Given the description of an element on the screen output the (x, y) to click on. 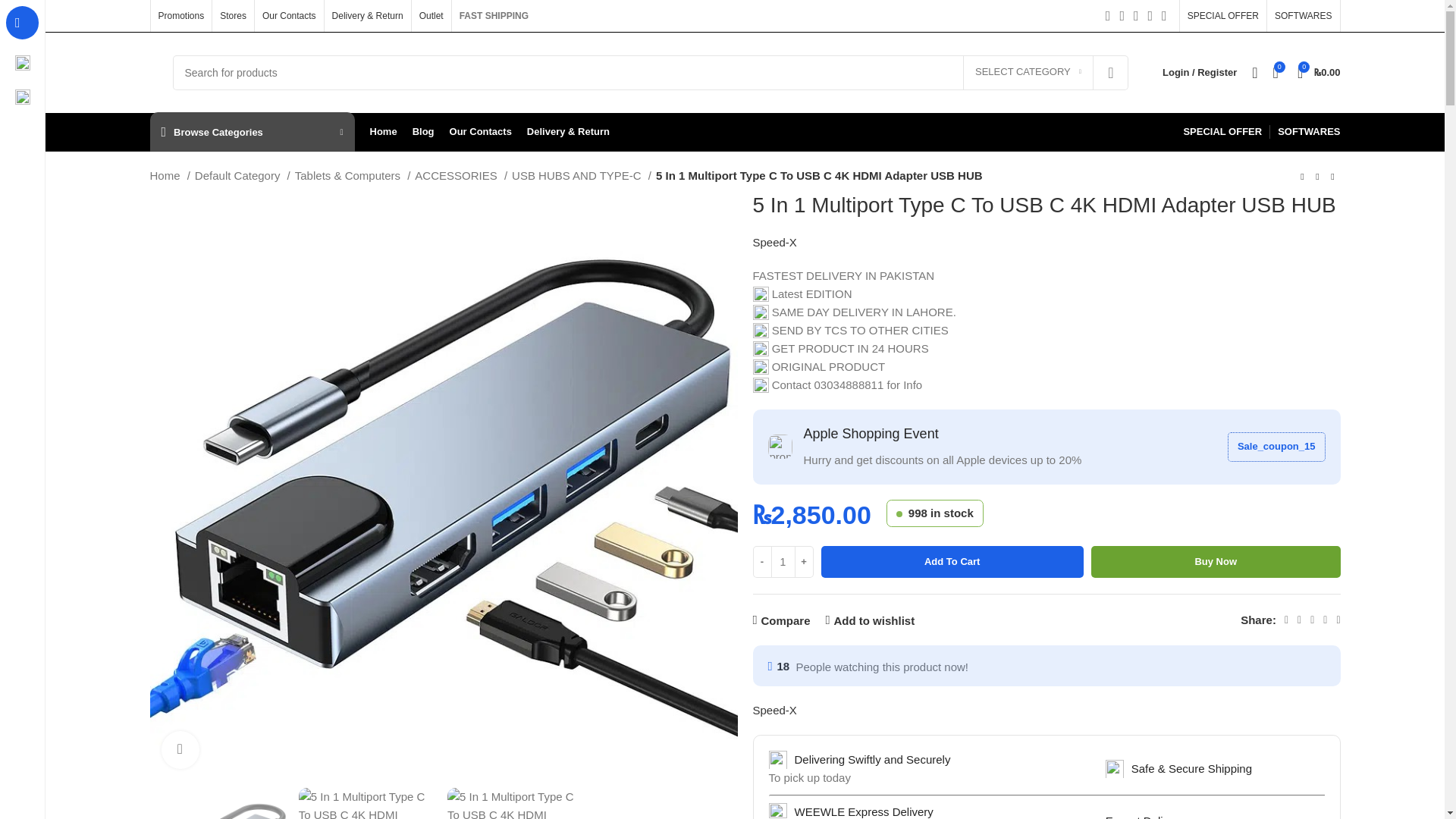
Our Contacts (288, 15)
SELECT CATEGORY (1027, 72)
Search for products (651, 71)
SELECT CATEGORY (1027, 72)
Shopping cart (1319, 72)
promotions (779, 446)
SPECIAL OFFER (1223, 15)
My account (1199, 72)
SOFTWARES (1303, 15)
Promotions (180, 15)
5 In 1 Multiport Type C To USB C 4K HDMI Adapter USB HUB-658 (918, 202)
Home Appliance (22, 96)
